Given the description of an element on the screen output the (x, y) to click on. 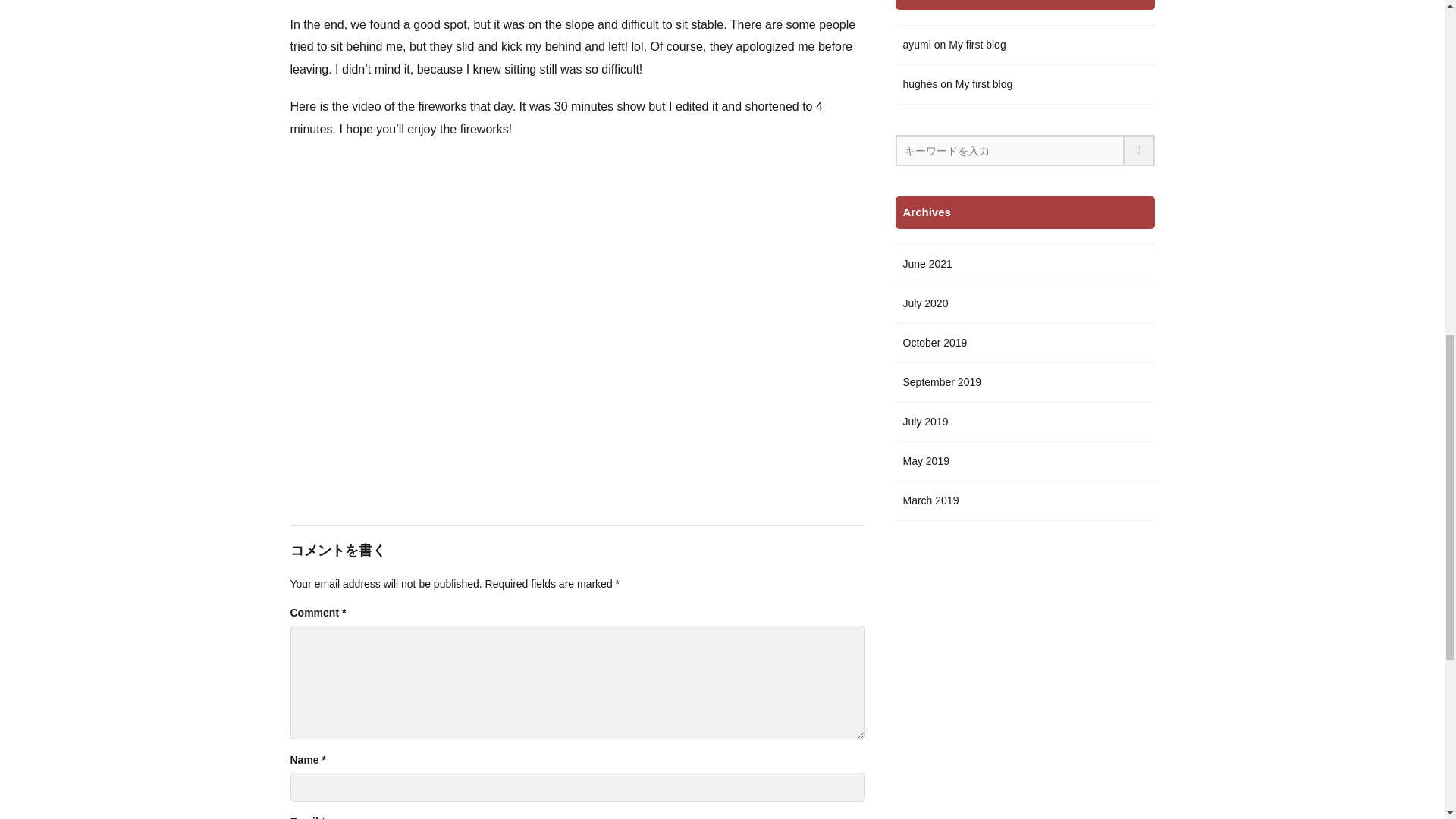
October 2019 (1024, 343)
May 2019 (1024, 461)
My first blog (977, 44)
July 2019 (1024, 422)
March 2019 (1024, 500)
July 2020 (1024, 303)
My first blog (983, 84)
search (1139, 150)
June 2021 (1024, 264)
September 2019 (1024, 382)
